Given the description of an element on the screen output the (x, y) to click on. 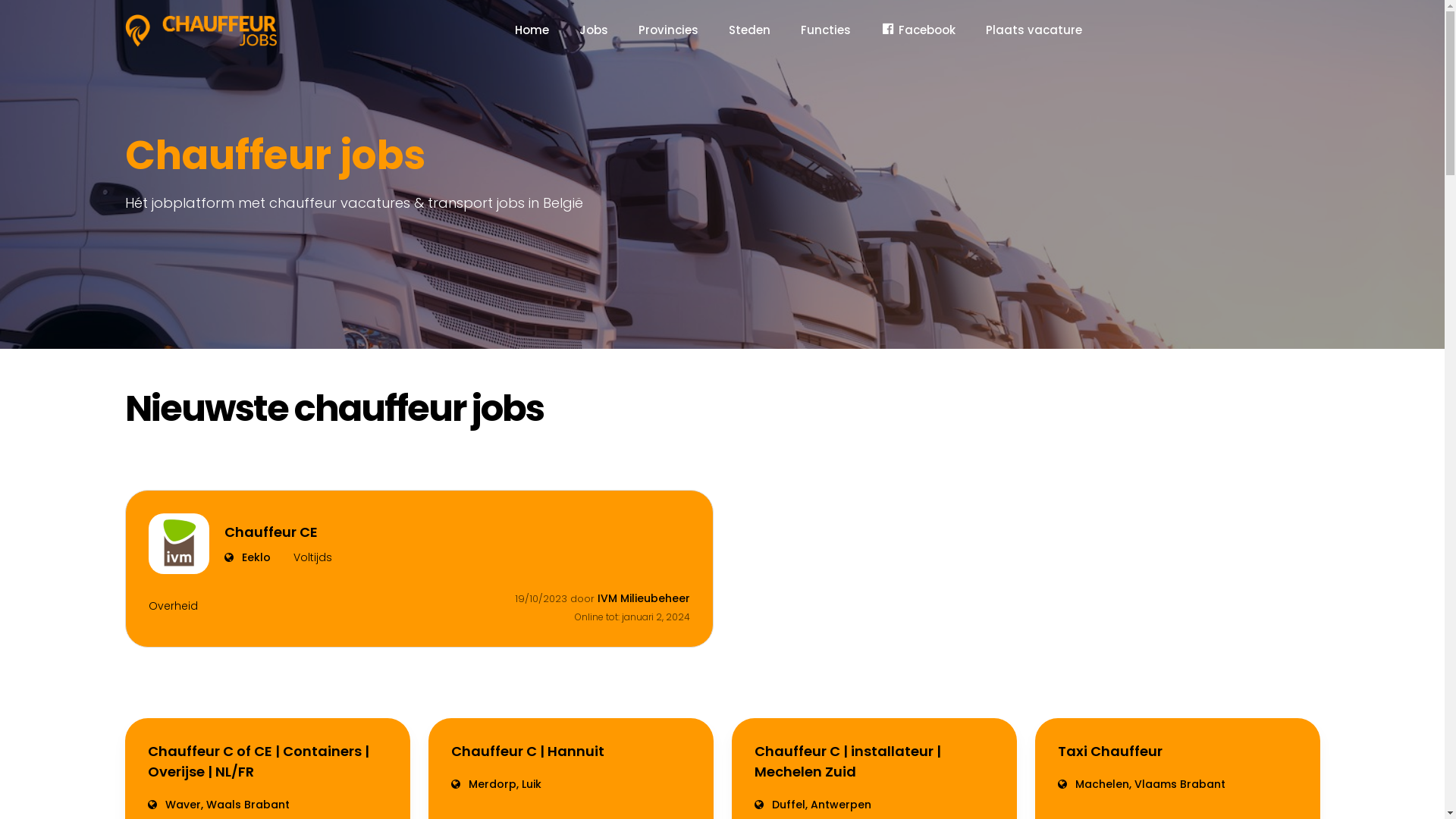
Chauffeur C | Hannuit Element type: text (570, 750)
Eeklo Element type: text (247, 557)
Chauffeur C | installateur | Mechelen Zuid Element type: text (873, 760)
Overheid Element type: text (172, 606)
Chauffeur CE Element type: text (278, 531)
Taxi Chauffeur Element type: text (1176, 750)
Facebook Element type: text (918, 29)
IVM Milieubeheer Element type: text (643, 597)
Duffel, Antwerpen Element type: text (873, 804)
Steden Element type: text (749, 29)
Machelen, Vlaams Brabant Element type: text (1176, 784)
Provincies Element type: text (668, 29)
Jobs Element type: text (593, 29)
Home Element type: text (531, 29)
Waver, Waals Brabant Element type: text (266, 804)
Functies Element type: text (825, 29)
Plaats vacature Element type: text (1033, 29)
Chauffeur C of CE | Containers | Overijse | NL/FR Element type: text (266, 760)
Merdorp, Luik Element type: text (570, 784)
